Given the description of an element on the screen output the (x, y) to click on. 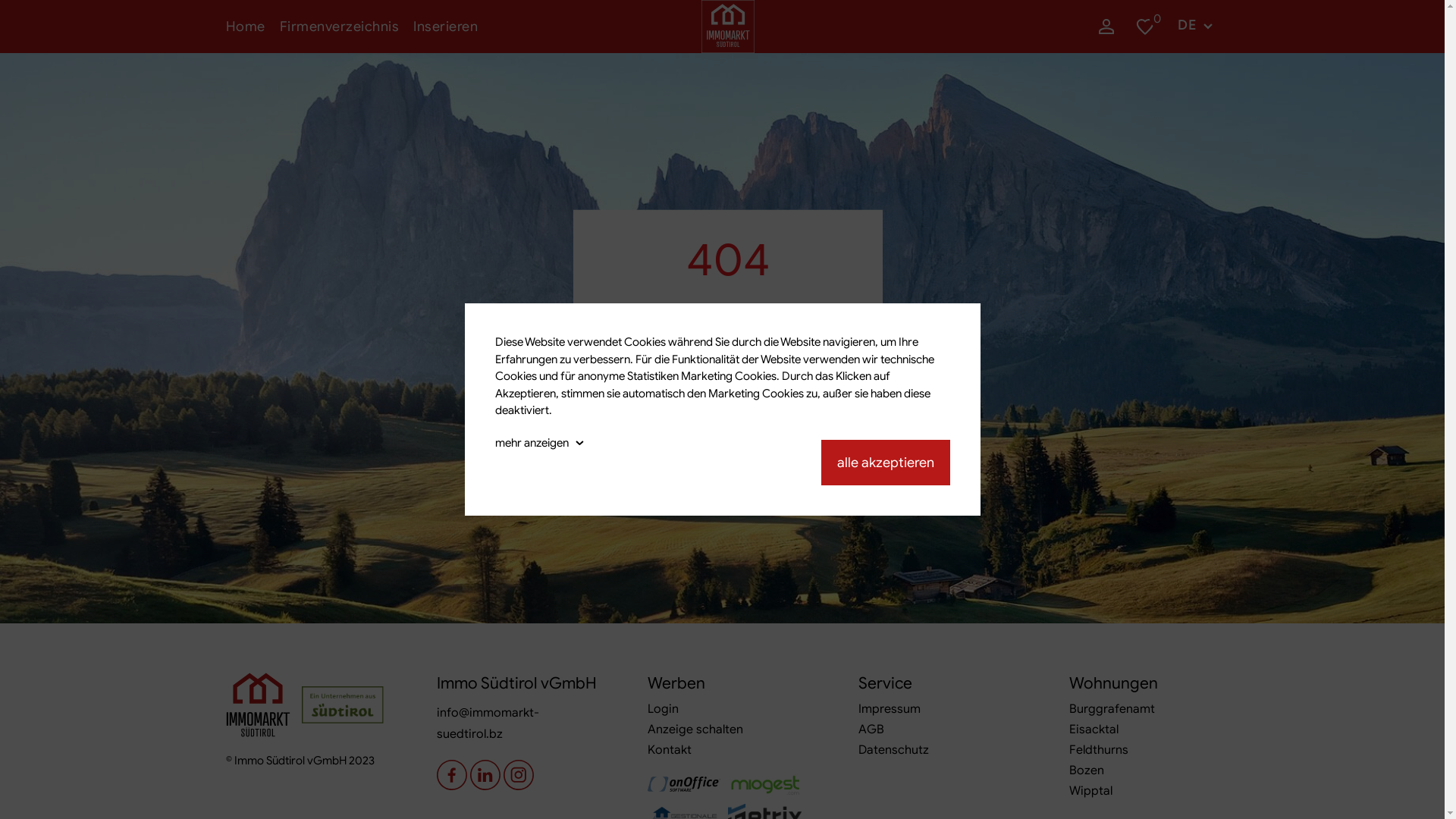
mehr anzeigen Element type: text (530, 441)
Wipptal Element type: text (1090, 790)
Kontakt Element type: text (669, 749)
Home Element type: text (245, 26)
Eisacktal Element type: text (1093, 729)
AGB Element type: text (871, 729)
zur Startseite Element type: text (727, 417)
Feldthurns Element type: text (1098, 749)
Burggrafenamt Element type: text (1111, 708)
Anzeige schalten Element type: text (695, 729)
0 Element type: text (1152, 26)
Firmenverzeichnis Element type: text (338, 26)
Bozen Element type: text (1086, 770)
Datenschutz Element type: text (893, 749)
DE Element type: text (1191, 25)
Inserieren Element type: text (445, 26)
Login Element type: text (662, 708)
Impressum Element type: text (889, 708)
info@immomarkt-suedtirol.bz Element type: text (487, 723)
alle akzeptieren Element type: text (884, 462)
